Given the description of an element on the screen output the (x, y) to click on. 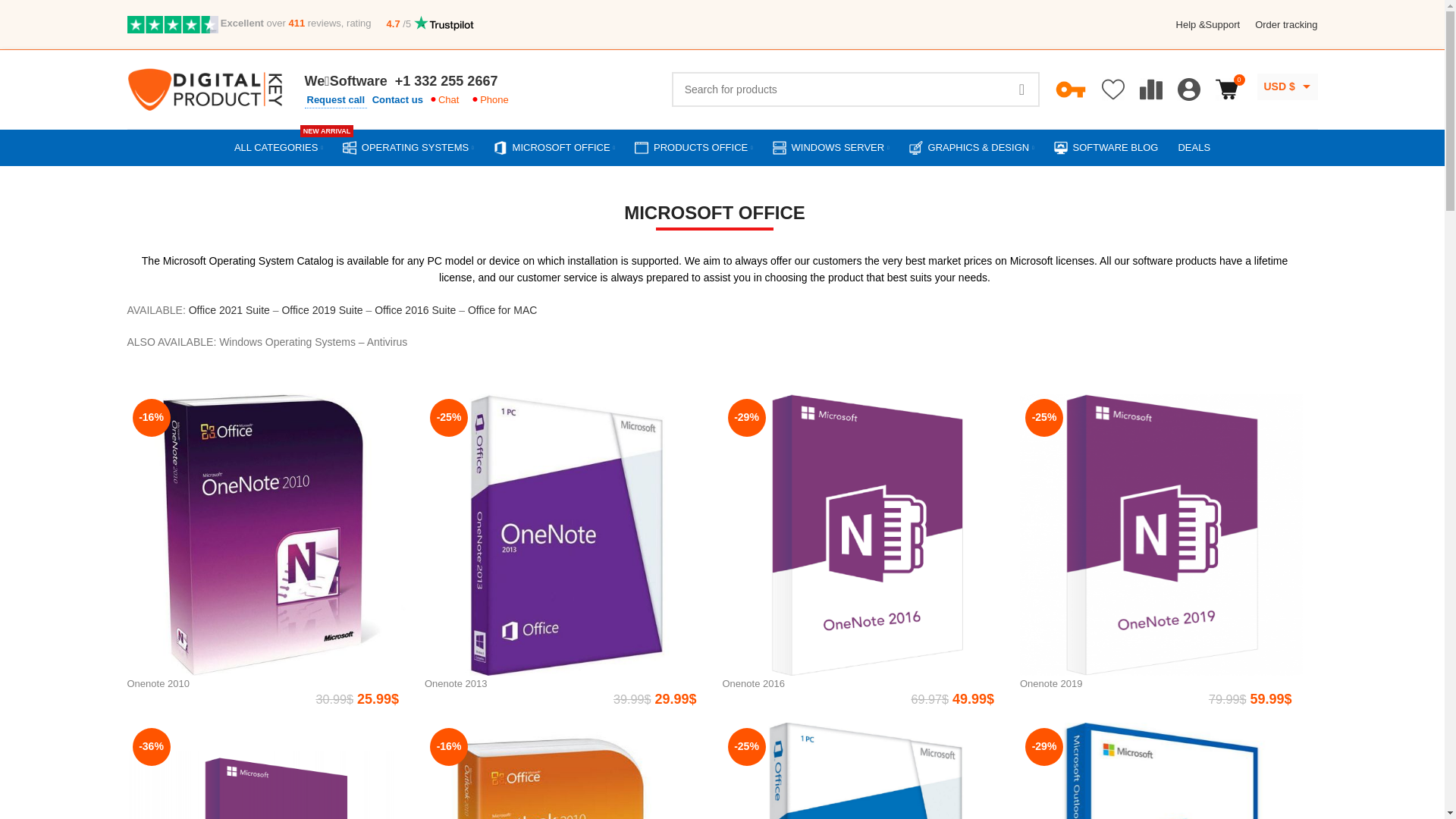
Shopping cart (1225, 89)
Compare products (1150, 89)
Order tracking (1286, 24)
Search for products (855, 89)
0 (1225, 89)
Request call (336, 99)
Log in (1074, 330)
Contact us (278, 147)
My account (397, 99)
SEARCH (1188, 89)
My Wishlist (1021, 89)
